Given the description of an element on the screen output the (x, y) to click on. 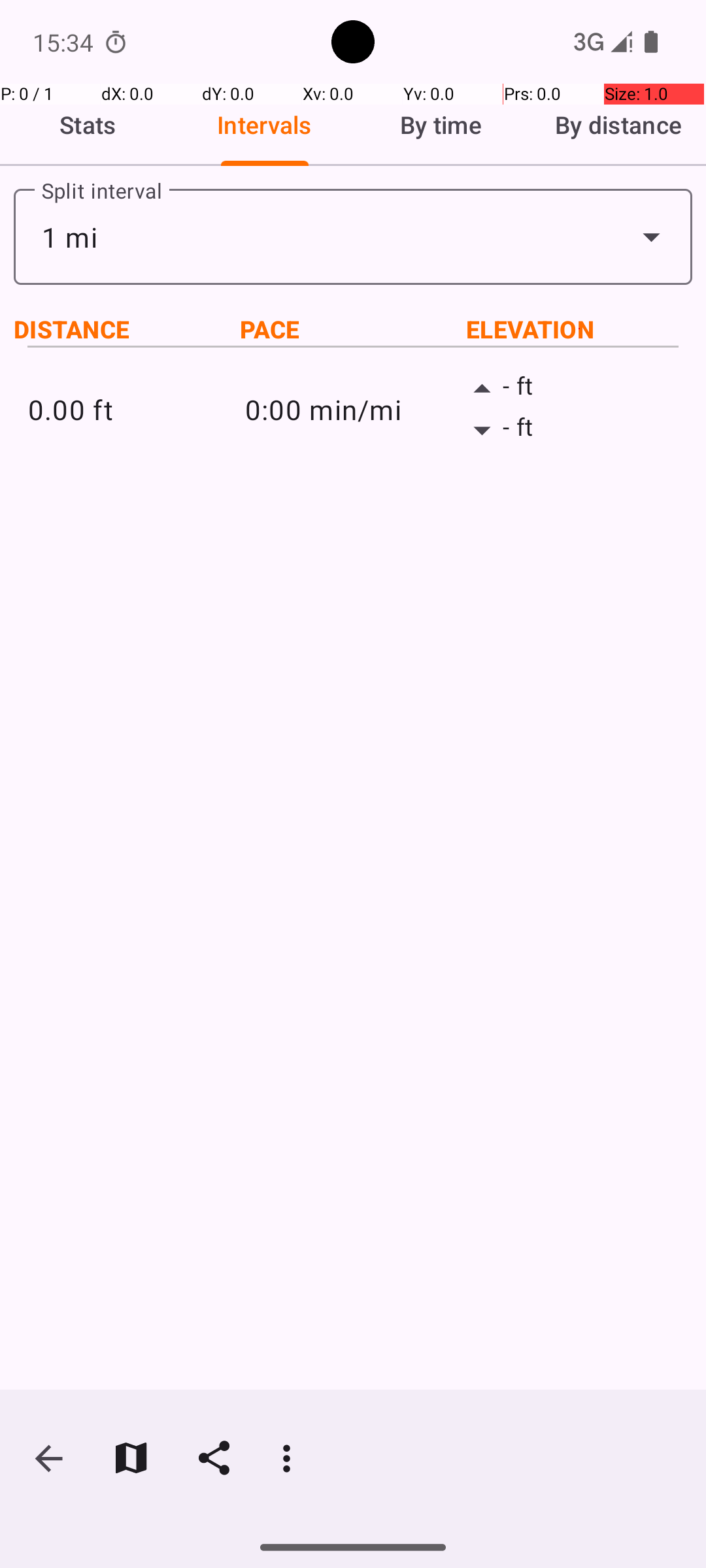
PACE Element type: android.widget.TextView (352, 328)
0:00 min/mi Element type: android.widget.TextView (352, 408)
